Given the description of an element on the screen output the (x, y) to click on. 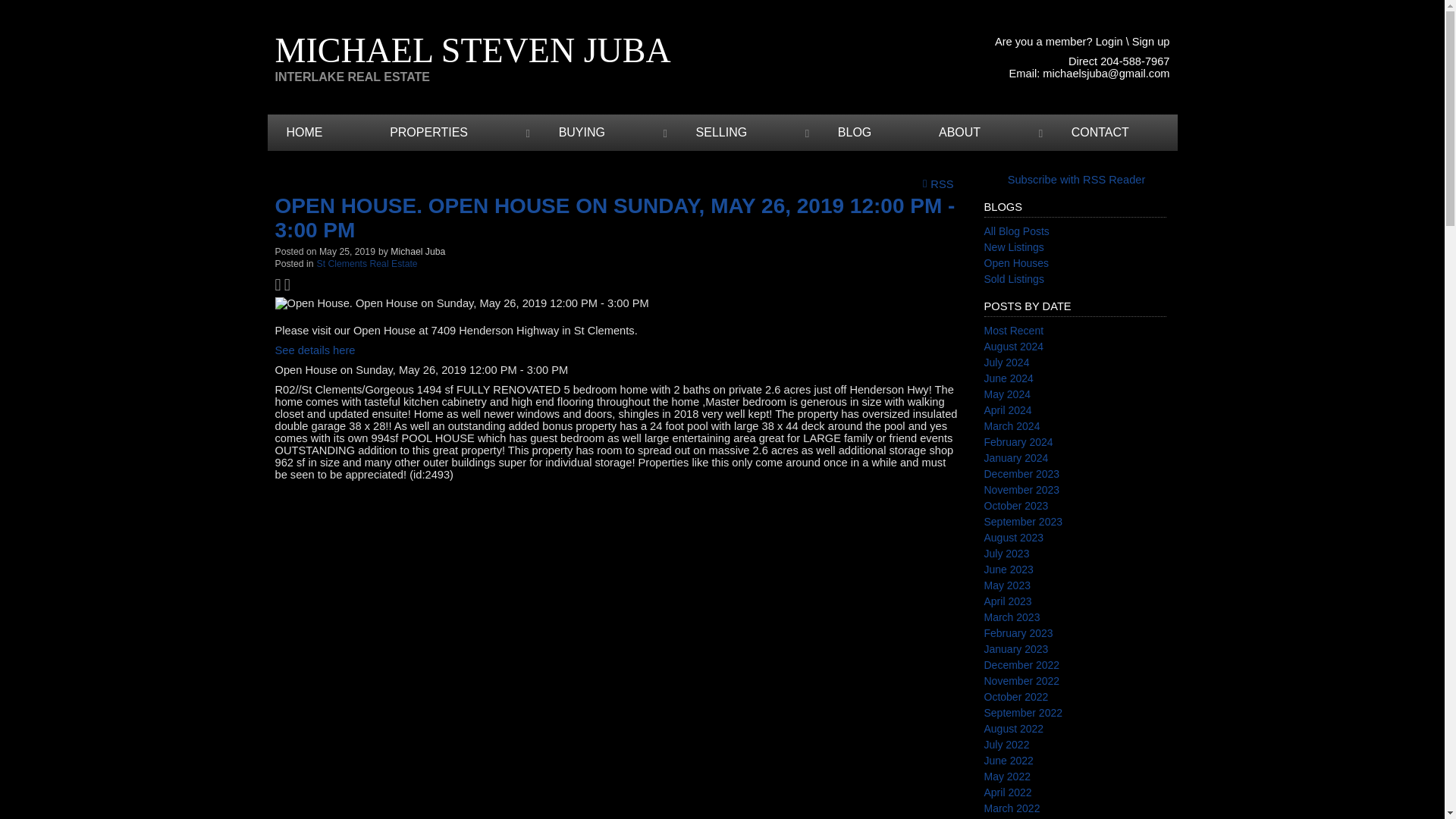
HOME (318, 132)
August 2024 (1013, 346)
Most Recent (1013, 330)
Open Houses (1016, 263)
May 2024 (1007, 394)
Subscribe with RSS Reader (1074, 179)
September 2023 (1023, 521)
CONTACT (1114, 132)
July 2024 (1006, 362)
February 2024 (1018, 441)
